Given the description of an element on the screen output the (x, y) to click on. 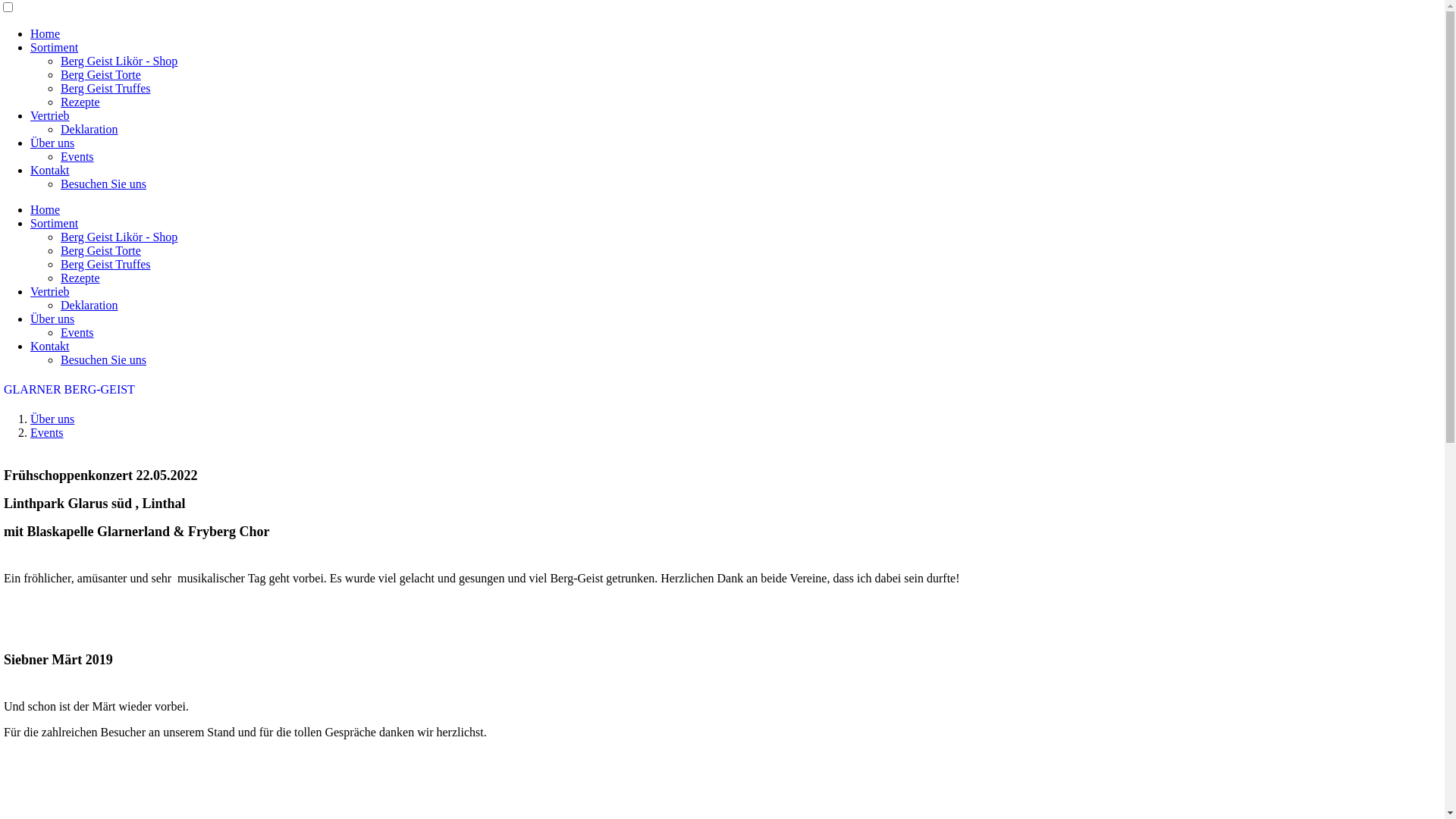
Berg Geist Truffes Element type: text (105, 263)
Vertrieb Element type: text (49, 115)
Berg Geist Truffes Element type: text (105, 87)
Deklaration Element type: text (89, 128)
Kontakt Element type: text (49, 169)
Berg Geist Torte Element type: text (100, 250)
GLARNER BERG-GEIST Element type: text (68, 388)
Kontakt Element type: text (49, 345)
Vertrieb Element type: text (49, 291)
Events Element type: text (46, 432)
Berg Geist Torte Element type: text (100, 74)
Sortiment Element type: text (54, 222)
Deklaration Element type: text (89, 304)
Sortiment Element type: text (54, 46)
Home Element type: text (44, 33)
Home Element type: text (44, 209)
Events Element type: text (77, 156)
Besuchen Sie uns Element type: text (103, 359)
Besuchen Sie uns Element type: text (103, 183)
Events Element type: text (77, 332)
Rezepte Element type: text (80, 101)
Rezepte Element type: text (80, 277)
